Given the description of an element on the screen output the (x, y) to click on. 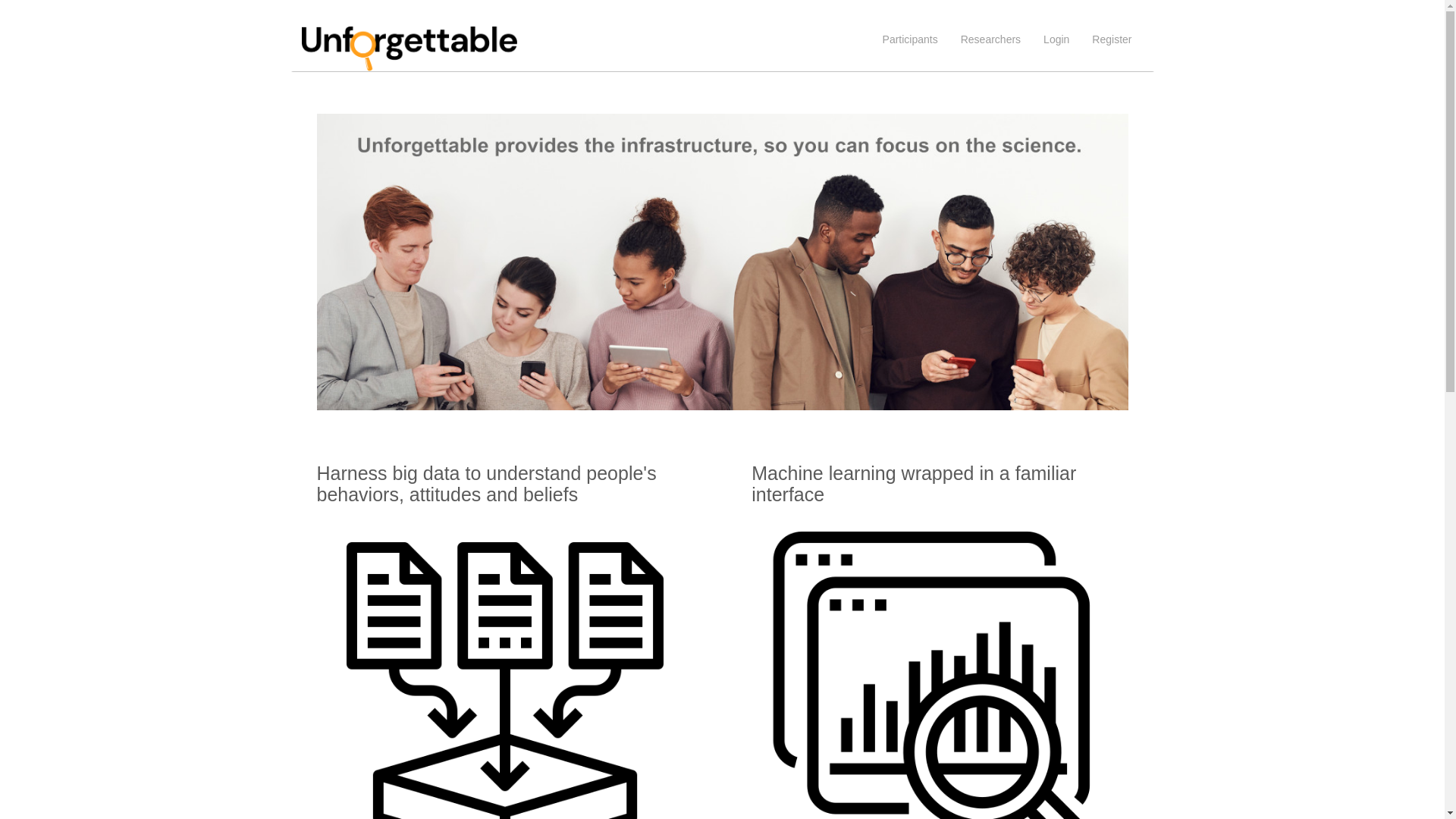
Login (1056, 39)
Researchers (990, 39)
Register (1111, 39)
Participants (909, 39)
